Given the description of an element on the screen output the (x, y) to click on. 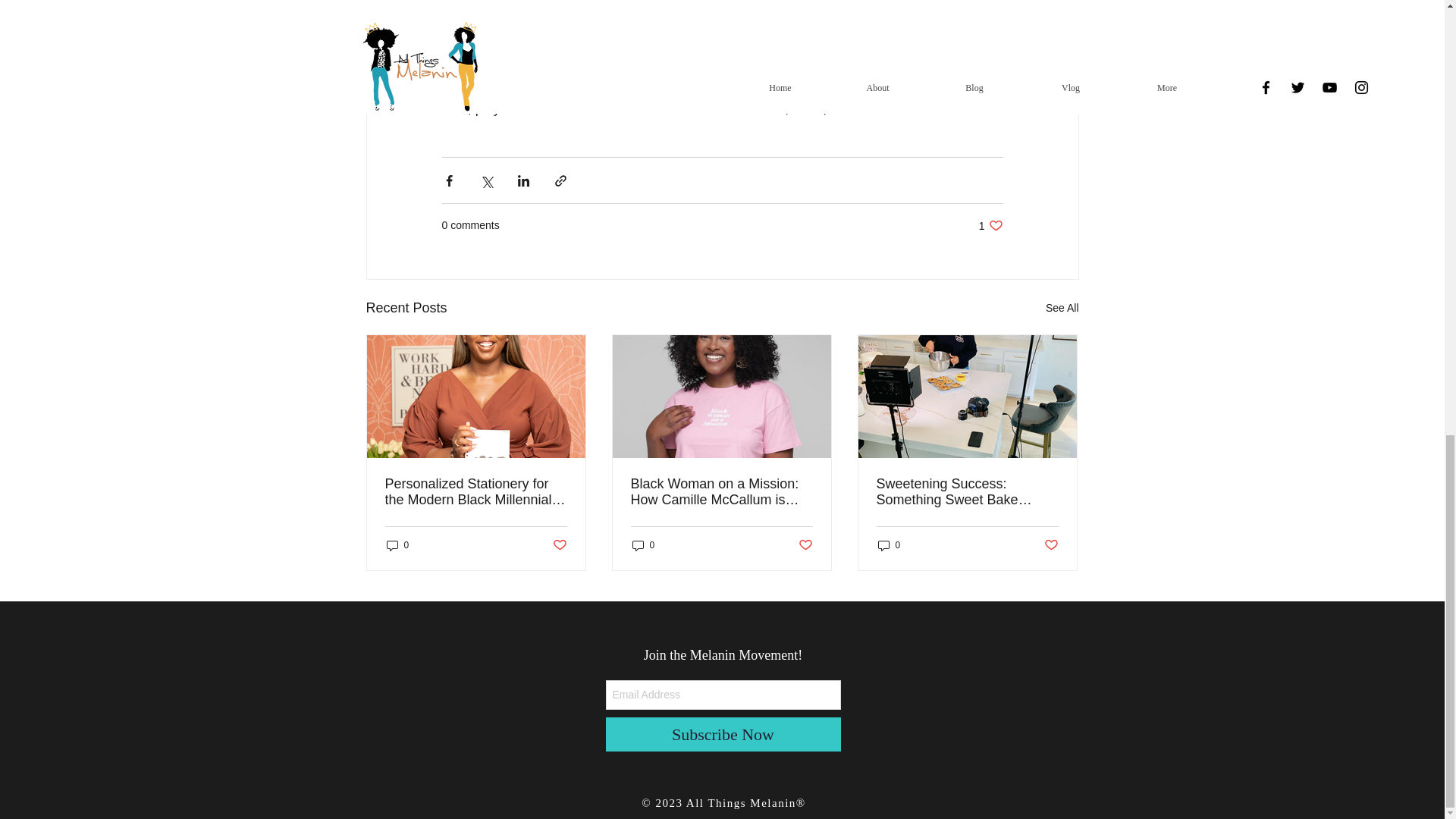
Sweetening Success: Something Sweet Bake Shoppe (967, 491)
Subscribe Now (722, 734)
0 (889, 545)
Post not marked as liked (1050, 544)
Post not marked as liked (990, 225)
Post not marked as liked (804, 544)
See All (558, 544)
